Given the description of an element on the screen output the (x, y) to click on. 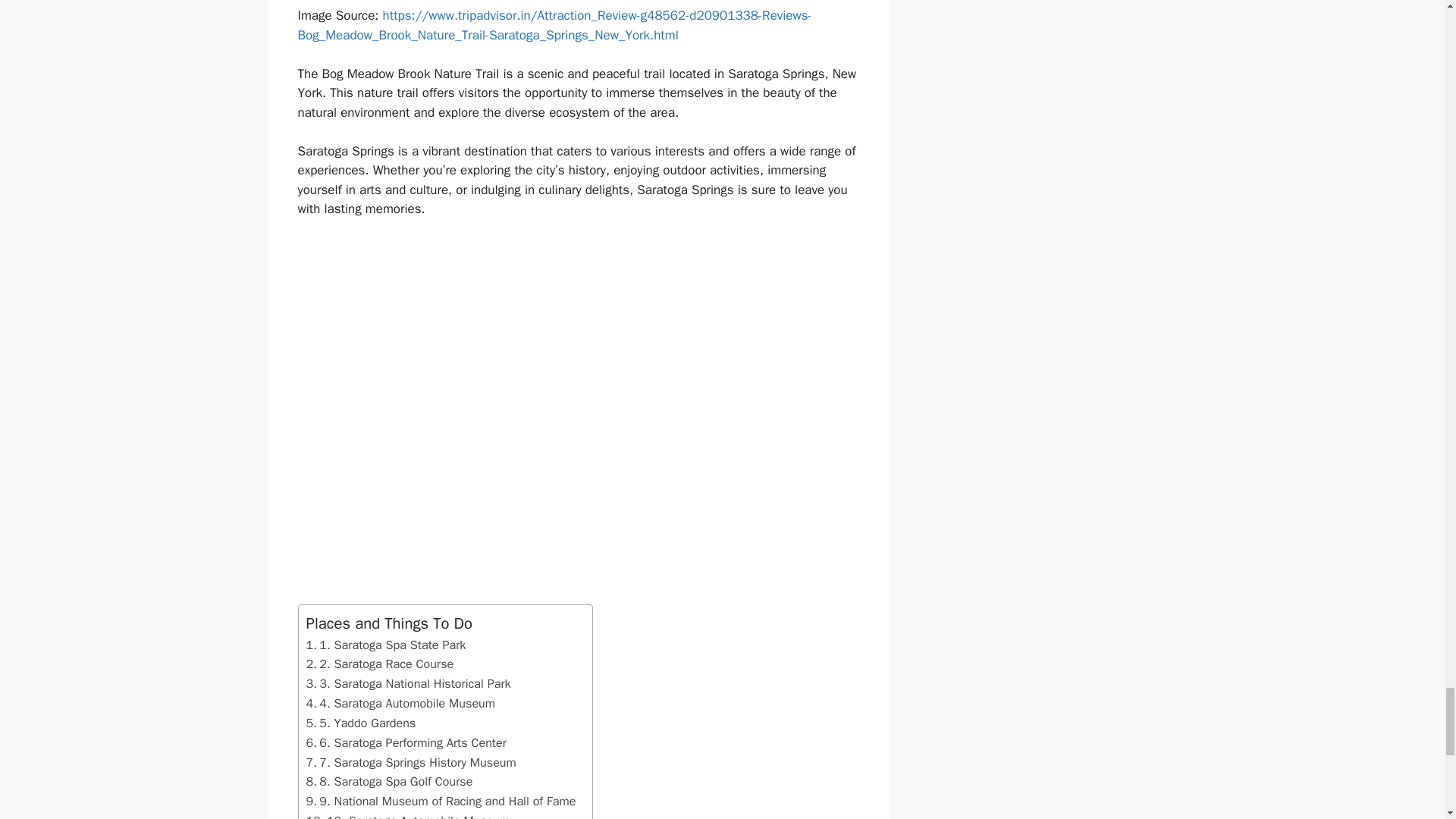
7. Saratoga Springs History Museum (410, 762)
10. Saratoga Automobile Museum (408, 815)
6. Saratoga Performing Arts Center (405, 742)
3. Saratoga National Historical Park (408, 683)
6. Saratoga Performing Arts Center (405, 742)
9. National Museum of Racing and Hall of Fame (440, 801)
7. Saratoga Springs History Museum (410, 762)
4. Saratoga Automobile Museum (400, 703)
8. Saratoga Spa Golf Course (389, 781)
3. Saratoga National Historical Park (408, 683)
5. Yaddo Gardens (360, 723)
10. Saratoga Automobile Museum (408, 815)
2. Saratoga Race Course (379, 664)
1. Saratoga Spa State Park (385, 645)
8. Saratoga Spa Golf Course (389, 781)
